Given the description of an element on the screen output the (x, y) to click on. 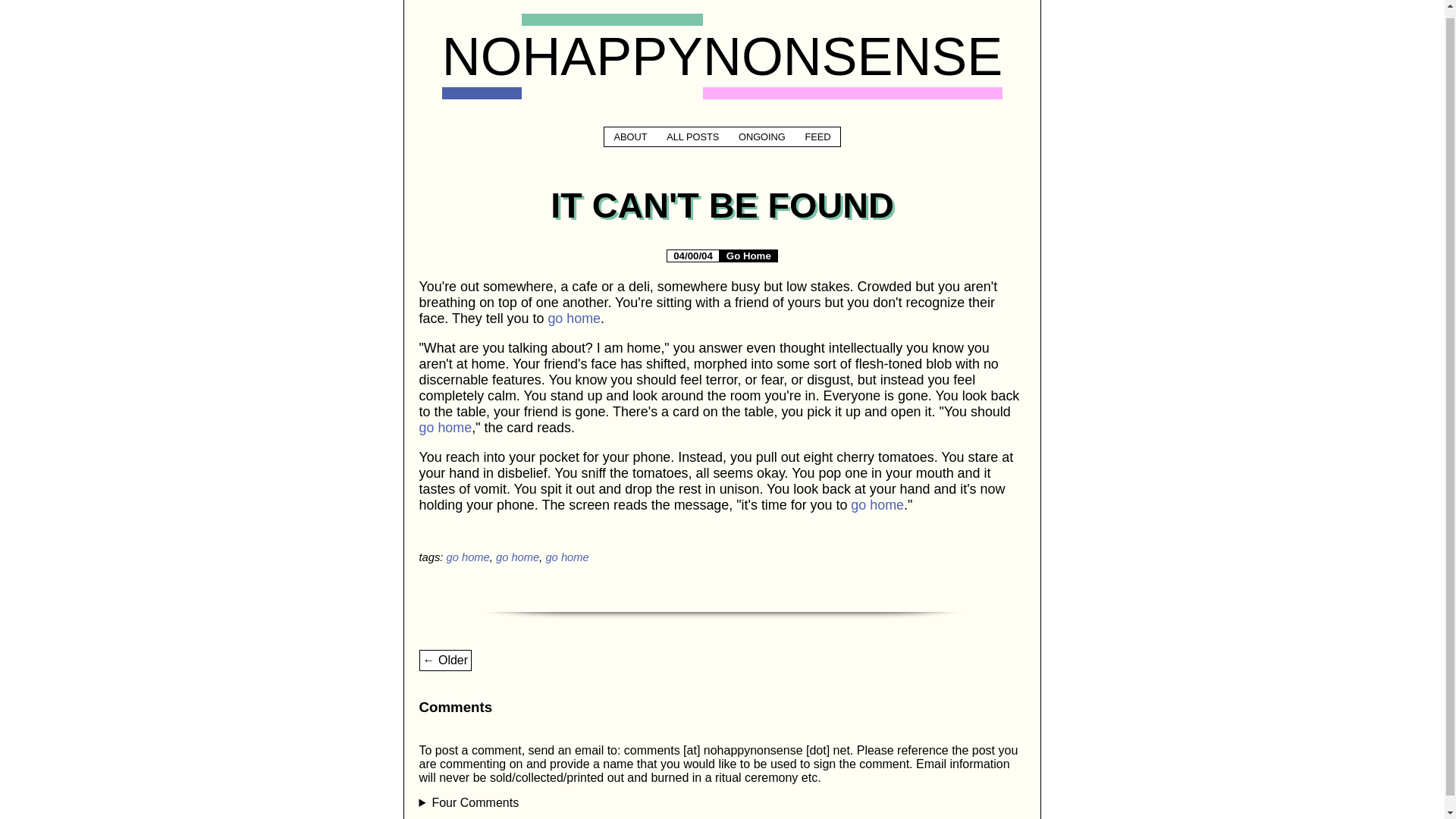
ONGOING (761, 136)
NO (482, 56)
NONSENSE (853, 56)
HAPPY (612, 56)
ABOUT (631, 136)
FEED (817, 136)
go home (573, 318)
go home (566, 557)
ALL POSTS (692, 136)
Go Home (748, 255)
go home (467, 557)
go home (517, 557)
go home (877, 504)
go home (445, 427)
